Given the description of an element on the screen output the (x, y) to click on. 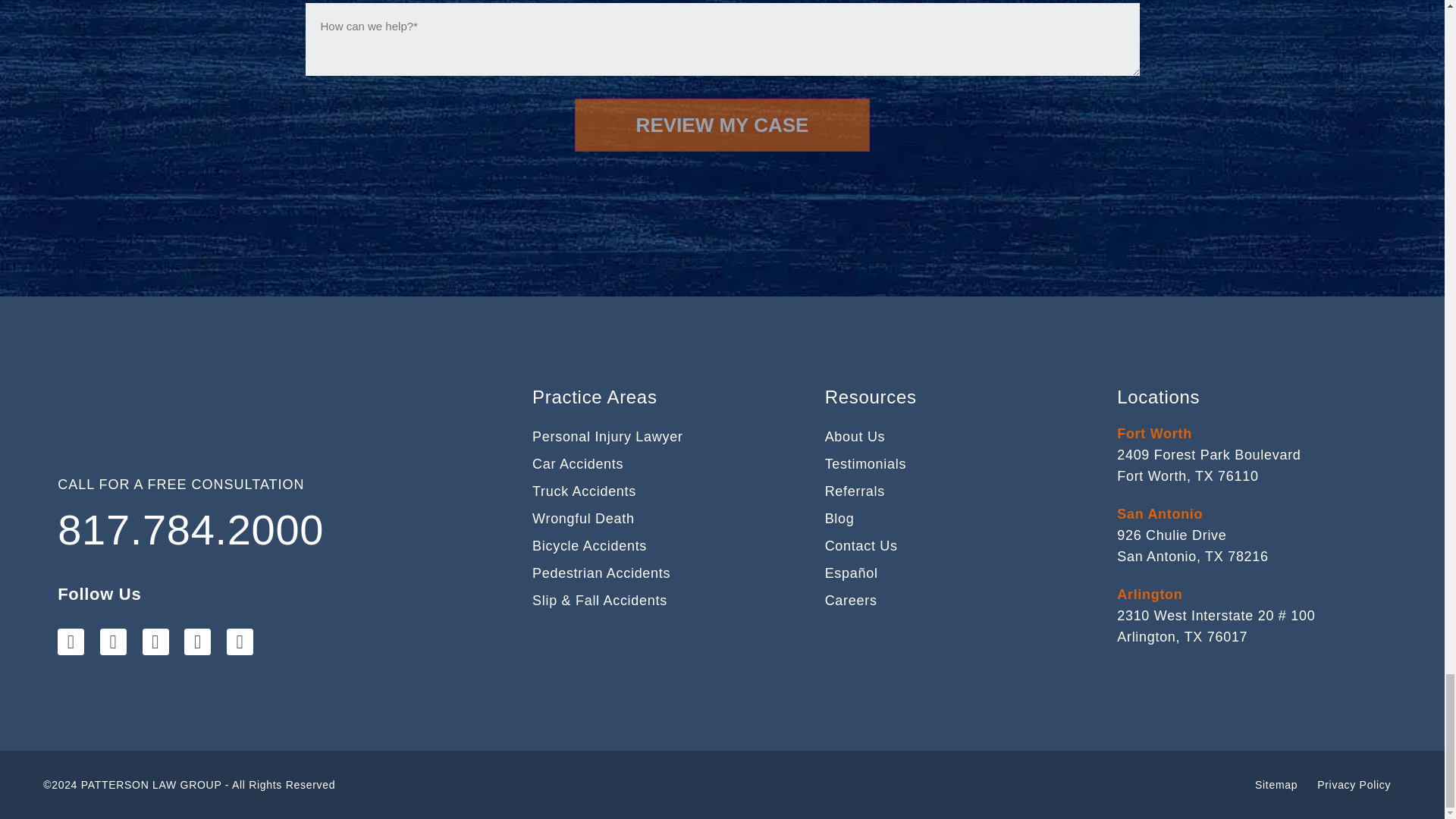
REVIEW MY CASE (722, 124)
